Given the description of an element on the screen output the (x, y) to click on. 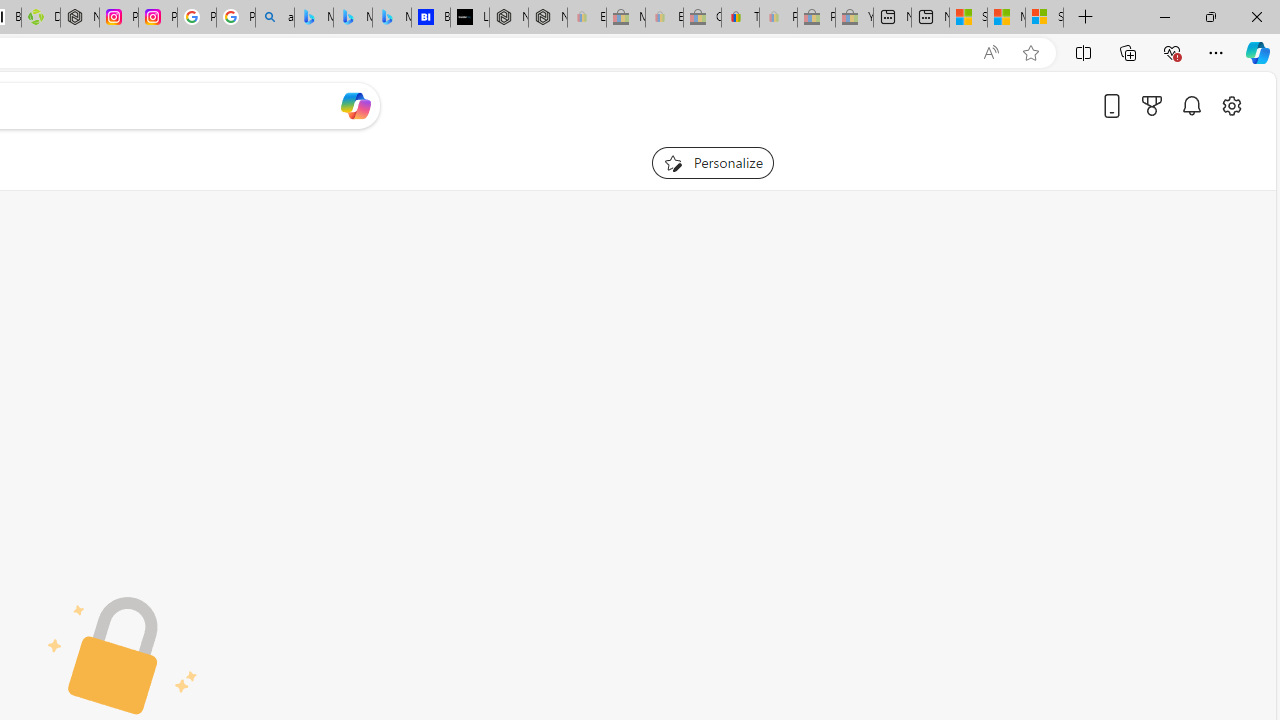
Payments Terms of Use | eBay.com - Sleeping (778, 17)
Sign in to your Microsoft account (1044, 17)
